Given the description of an element on the screen output the (x, y) to click on. 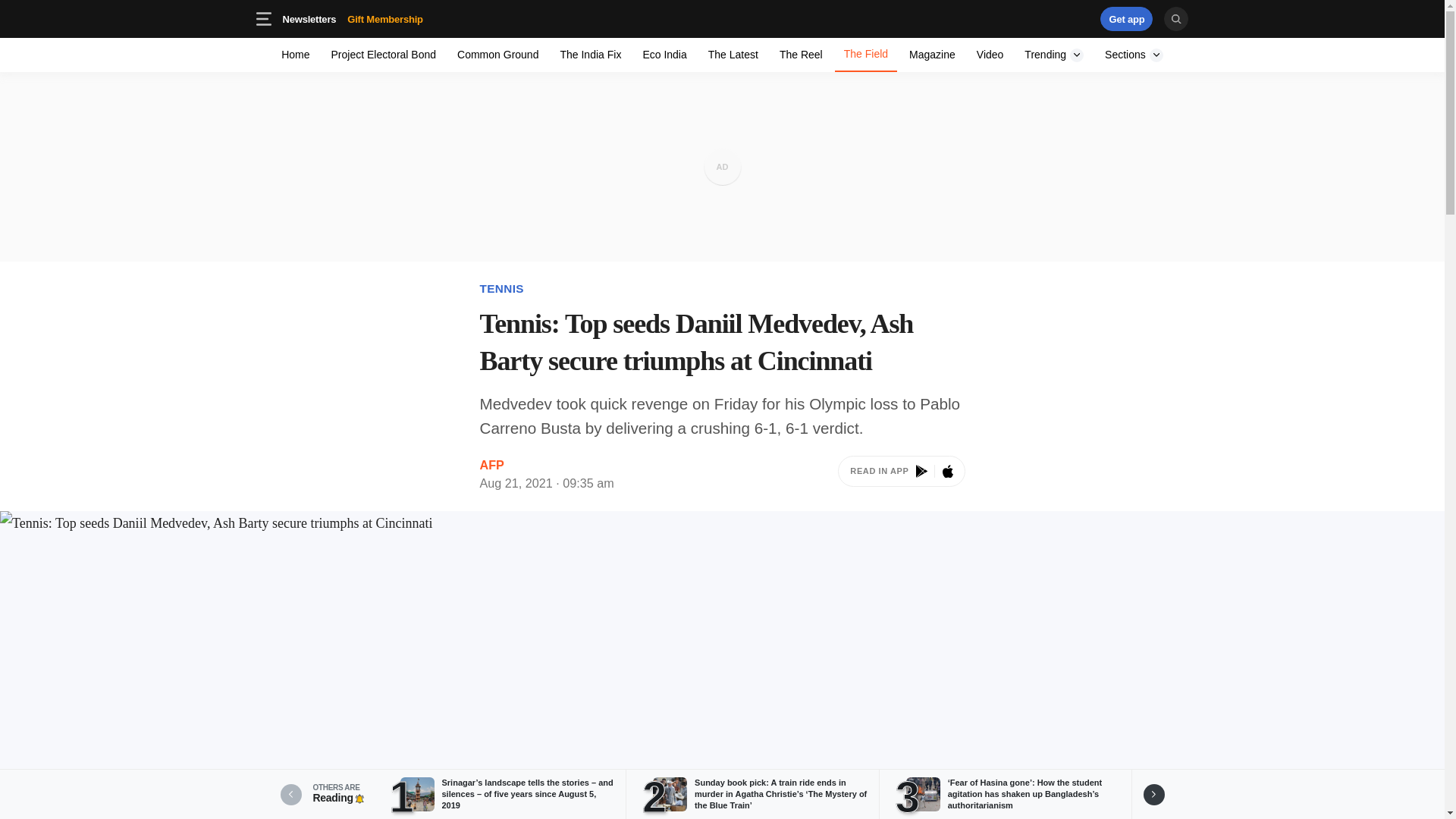
The Latest (732, 54)
The India Fix (590, 54)
Sections (1134, 54)
Trending (721, 18)
Common Ground (1053, 54)
Magazine (497, 54)
Project Electoral Bond (931, 54)
The Field (383, 54)
Trending (865, 54)
Newsletters (352, 18)
READ IN APP (1053, 54)
Home (309, 18)
The Reel (900, 474)
